Given the description of an element on the screen output the (x, y) to click on. 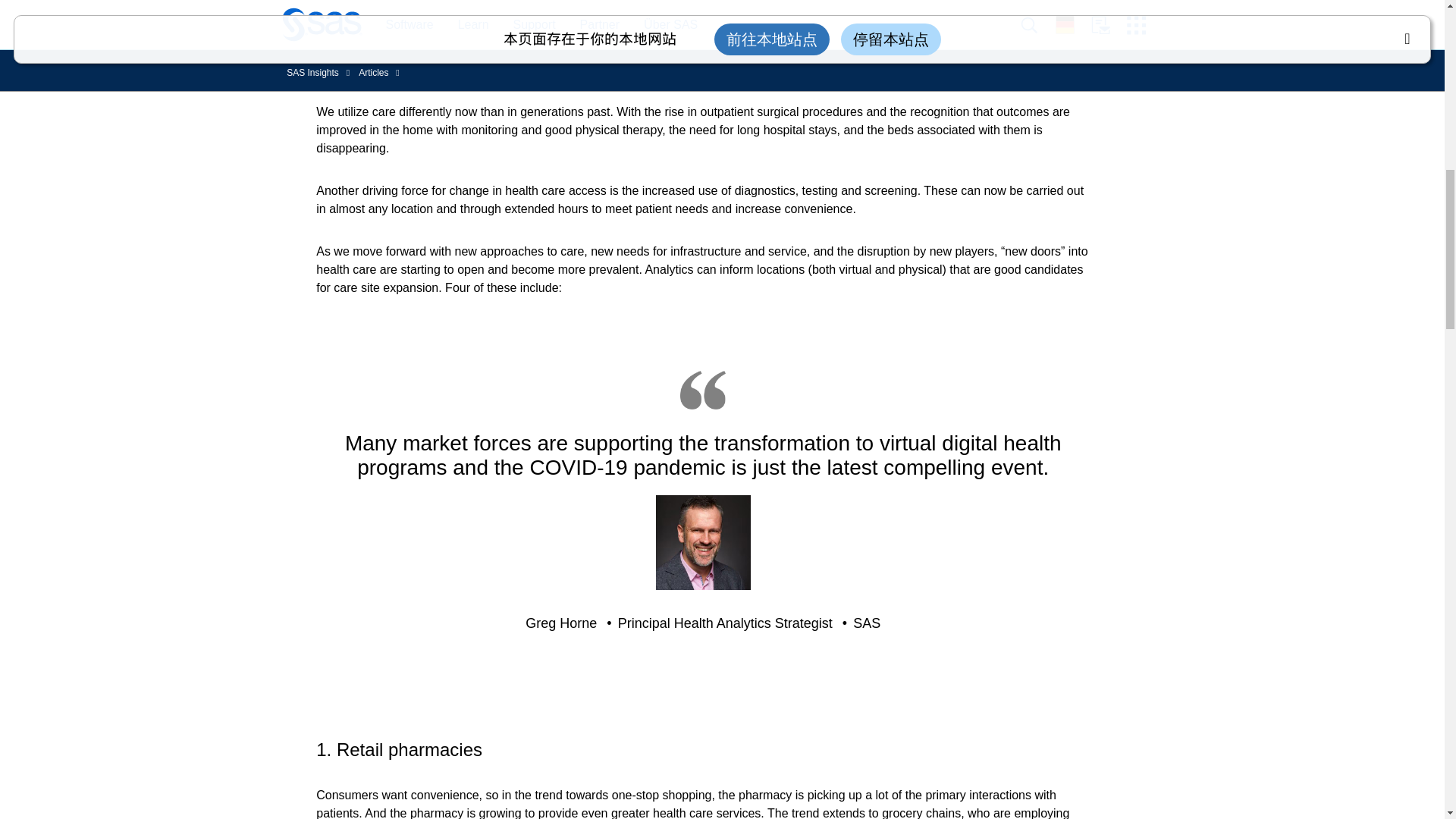
Greg Horne, Canada (703, 542)
